Given the description of an element on the screen output the (x, y) to click on. 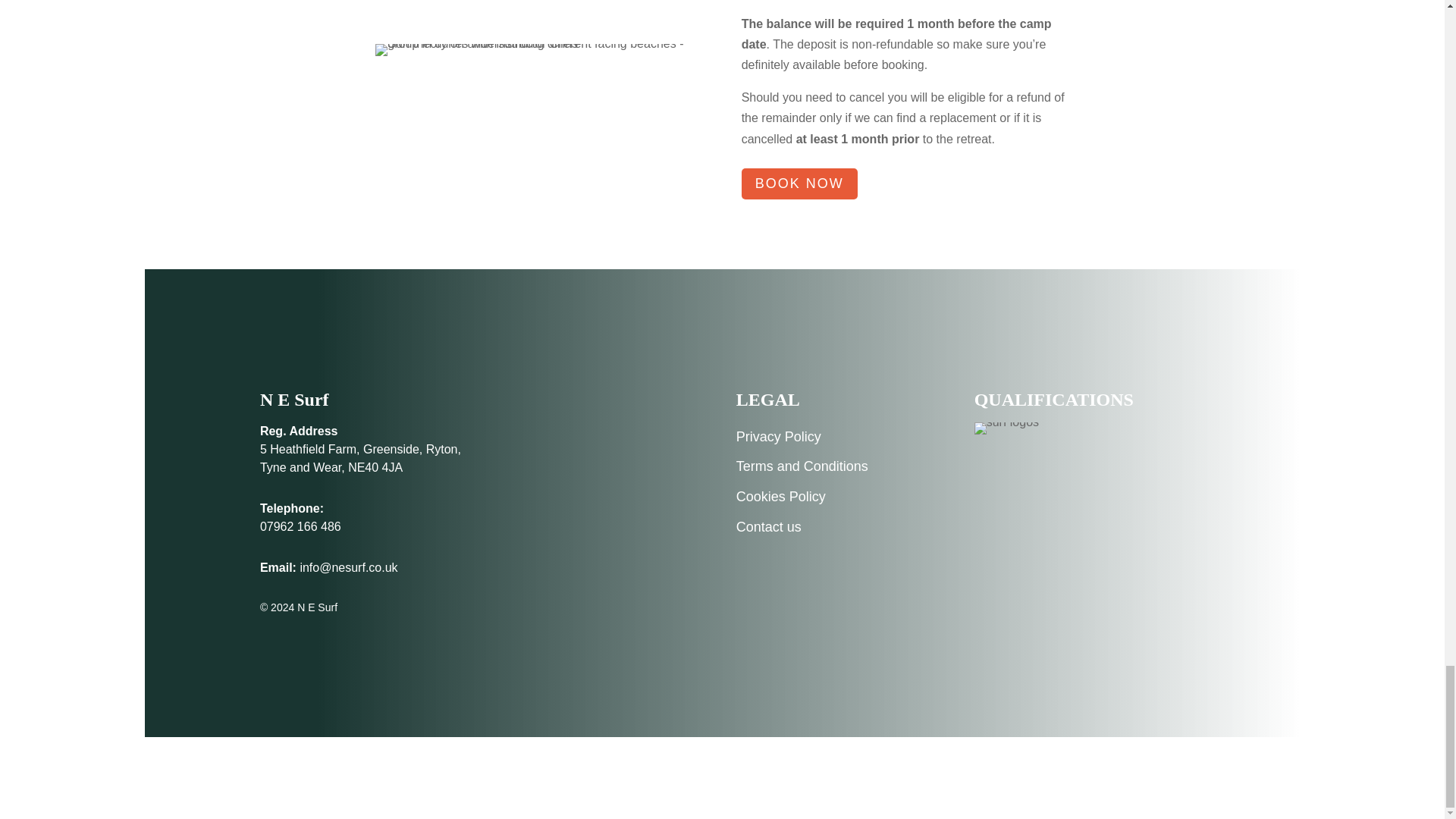
Terms and Conditions (801, 466)
Contact us (769, 526)
1E23D4E4-3509-4320-BCF1-218DB1E41686 (539, 50)
BOOK NOW (799, 183)
Cookies Policy (780, 496)
surf logos (1006, 428)
Privacy Policy (778, 436)
